Given the description of an element on the screen output the (x, y) to click on. 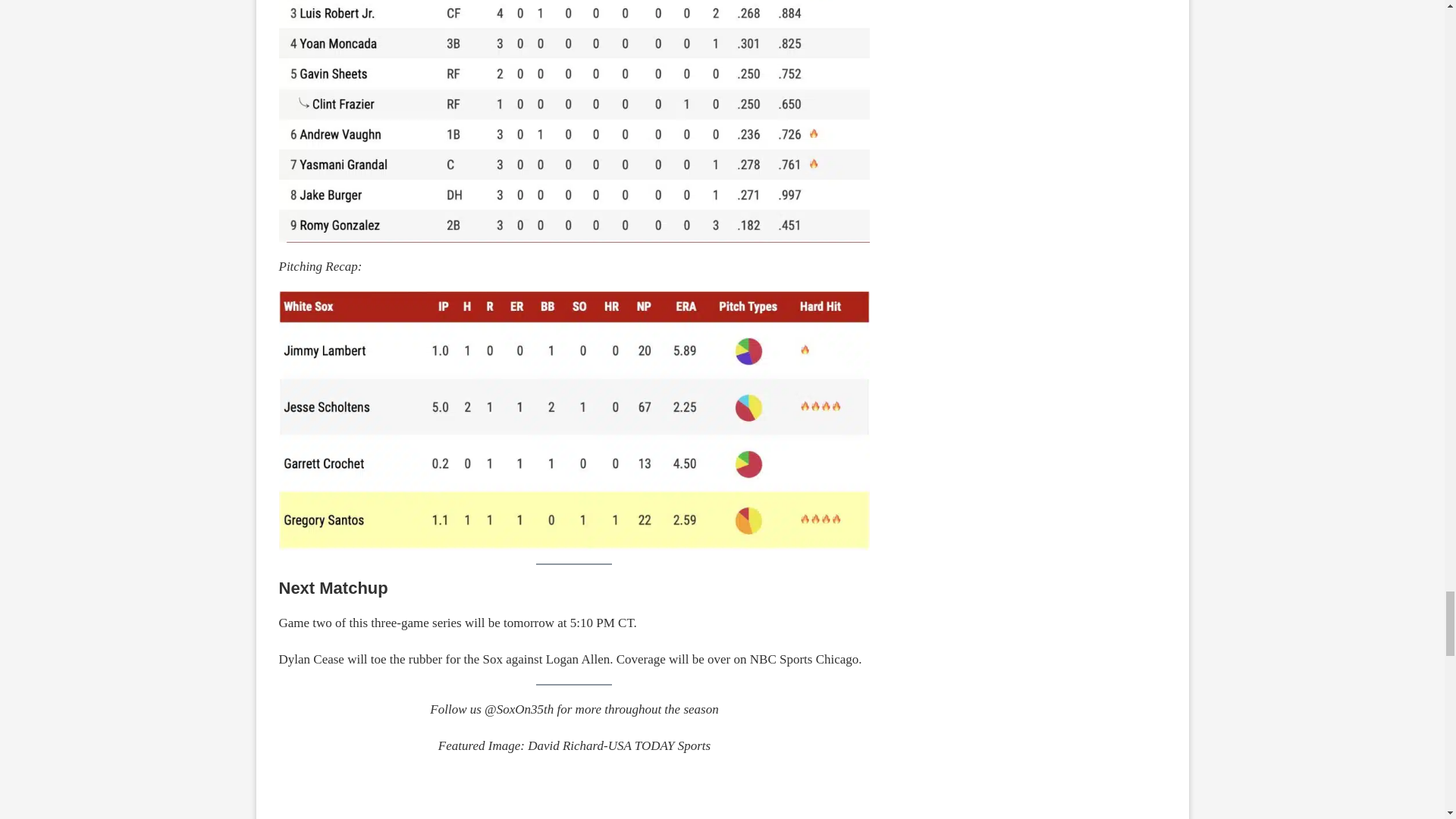
Sox On 35th Podcast (574, 807)
